Given the description of an element on the screen output the (x, y) to click on. 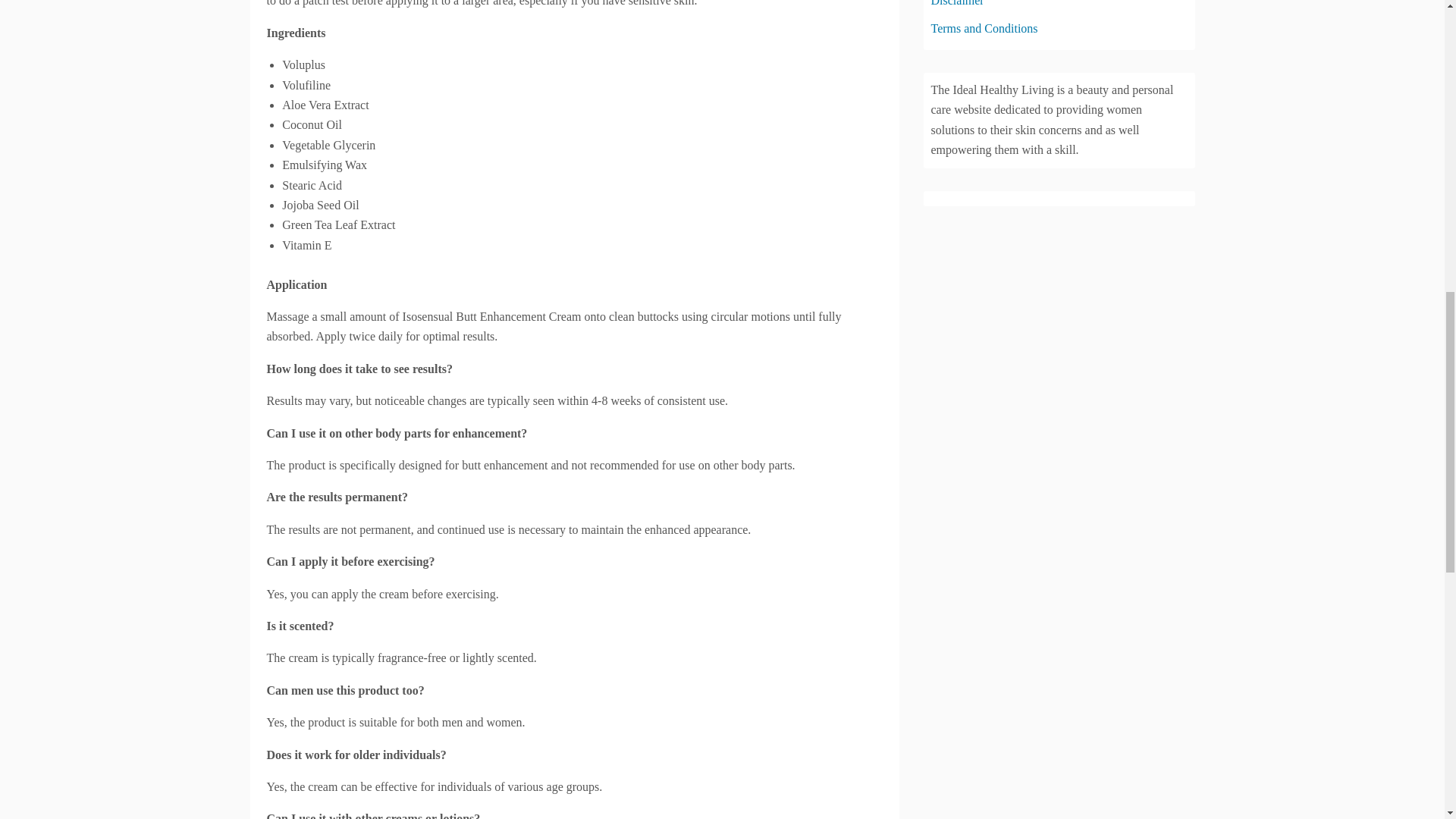
Terms and Conditions (984, 28)
Disclaimer (957, 3)
